Given the description of an element on the screen output the (x, y) to click on. 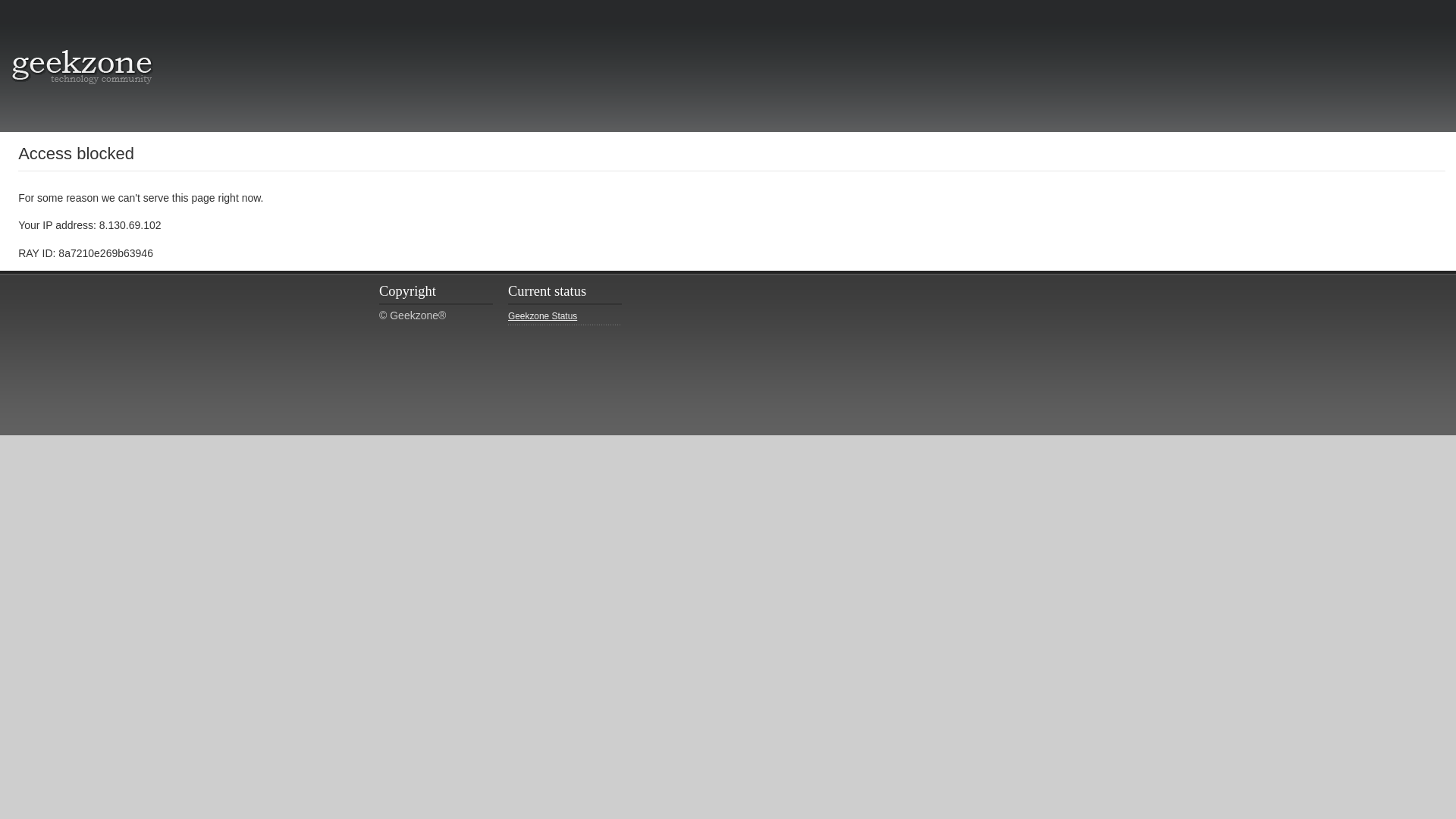
Geekzone Status (564, 316)
